Given the description of an element on the screen output the (x, y) to click on. 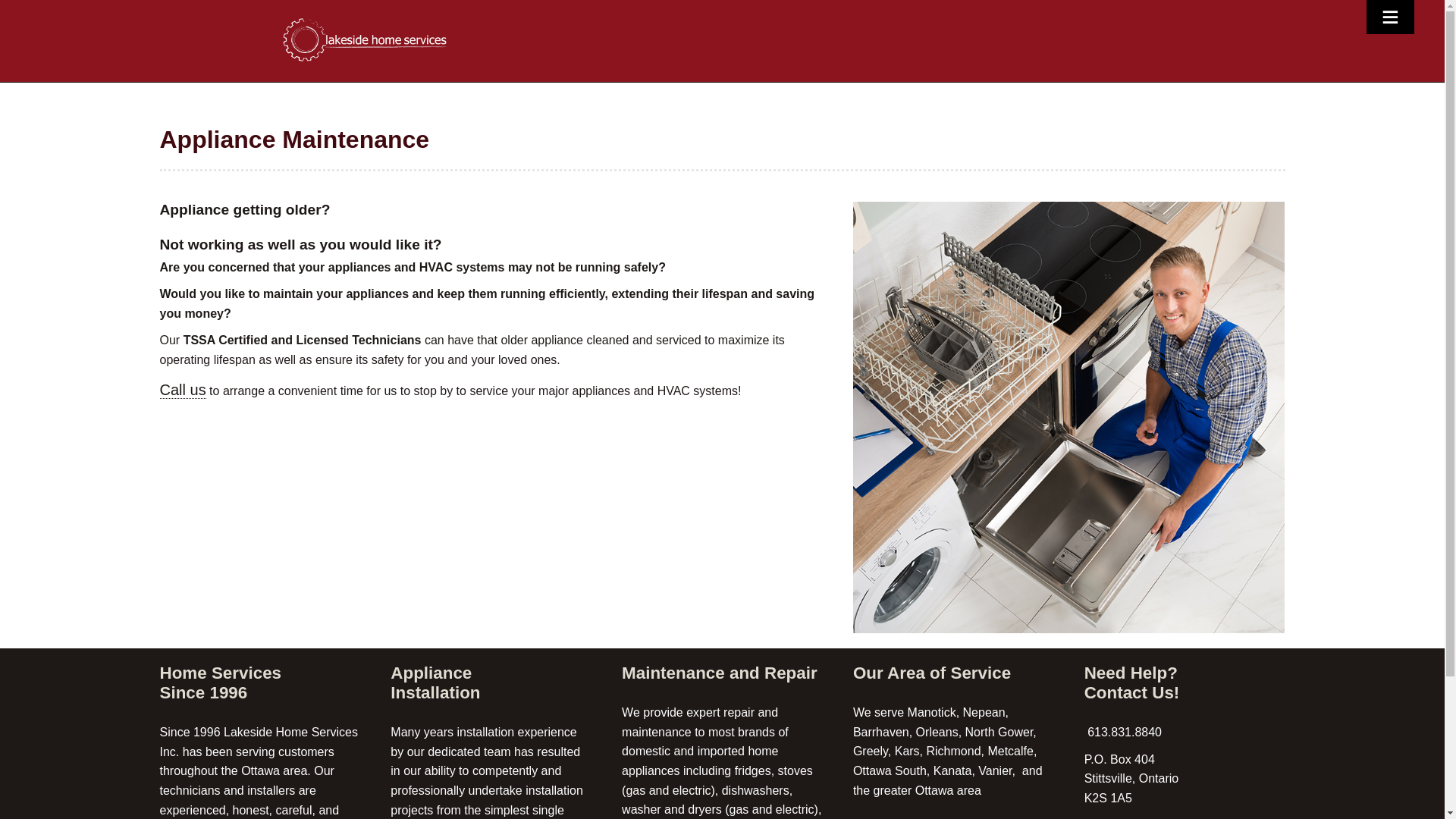
Go to our home page (365, 39)
 613.831.8840 (1122, 731)
Call us (181, 389)
